Given the description of an element on the screen output the (x, y) to click on. 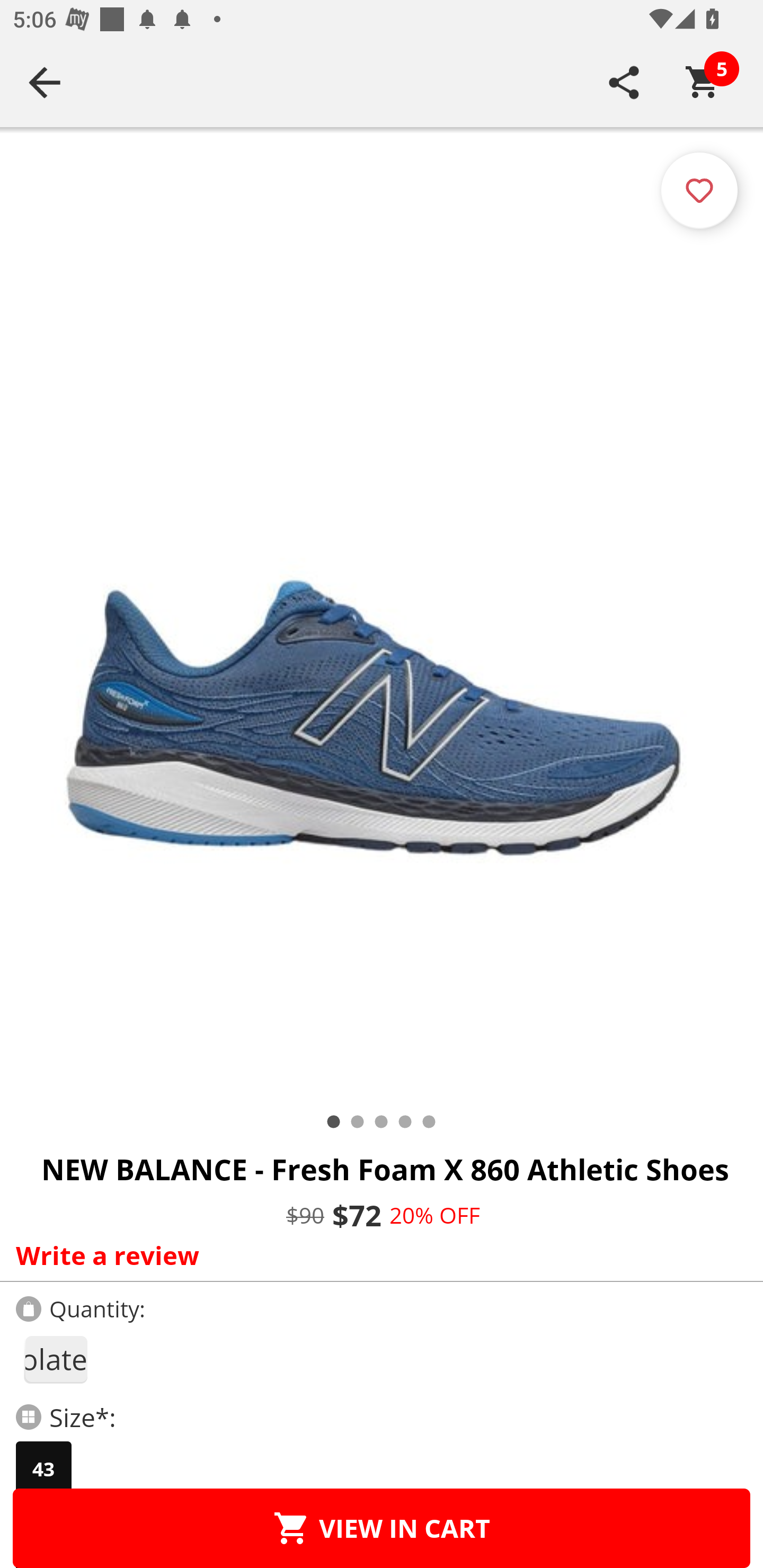
Navigate up (44, 82)
SHARE (623, 82)
Cart (703, 81)
Write a review (377, 1255)
1chocolate (55, 1358)
43 (43, 1468)
VIEW IN CART (381, 1528)
